Given the description of an element on the screen output the (x, y) to click on. 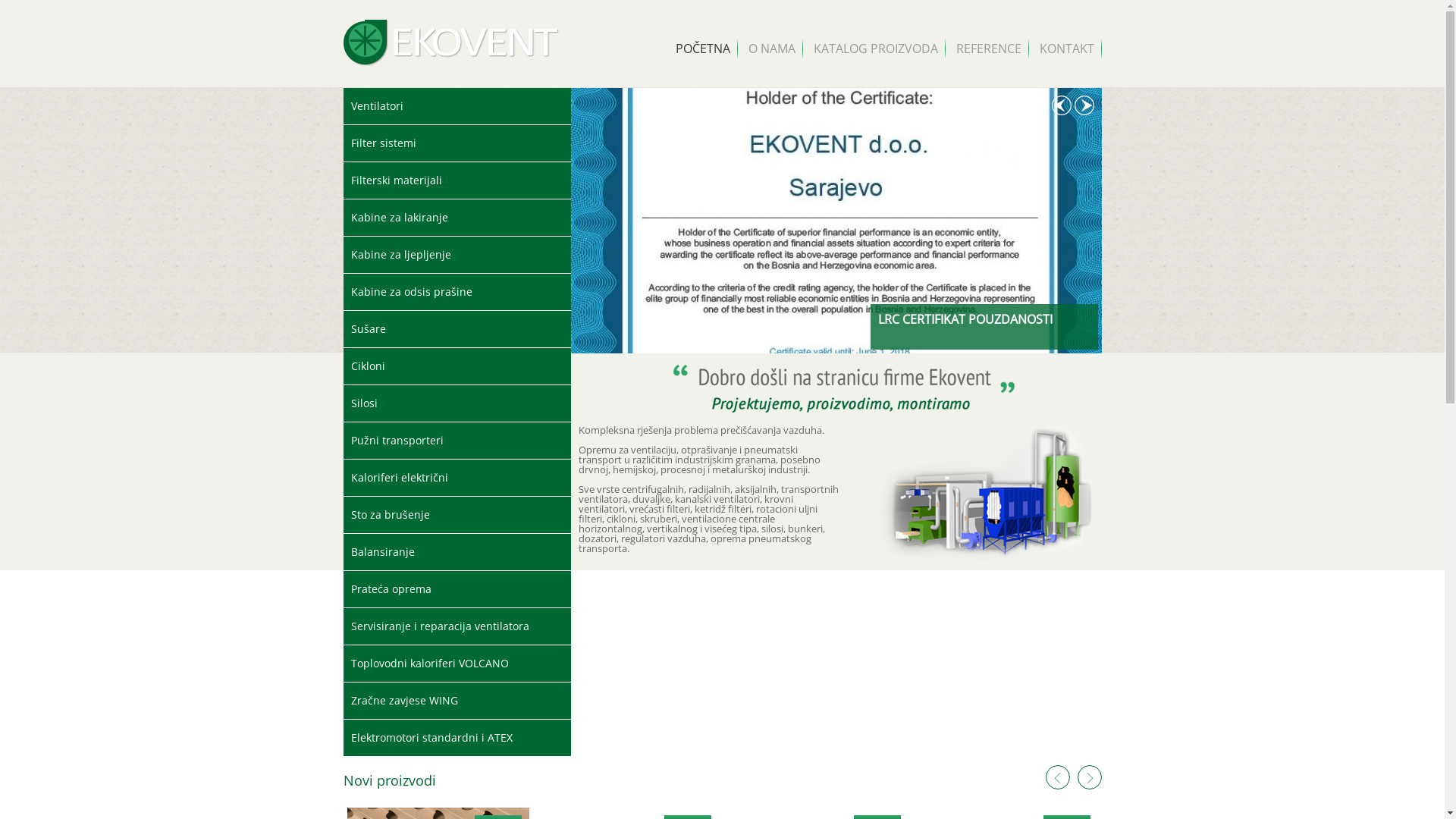
KONTAKT Element type: text (1066, 48)
Cikloni Element type: text (456, 366)
Servisiranje i reparacija ventilatora Element type: text (456, 626)
Filter sistemi Element type: text (456, 143)
Filterski materijali Element type: text (456, 180)
Silosi Element type: text (456, 403)
O NAMA Element type: text (771, 48)
Kabine za lakiranje Element type: text (456, 217)
Kabine za ljepljenje Element type: text (456, 254)
Toplovodni kaloriferi VOLCANO Element type: text (456, 663)
Balansiranje Element type: text (456, 552)
Ventilatori Element type: text (456, 106)
Elektromotori standardni i ATEX certificirani Element type: text (456, 737)
REFERENCE Element type: text (987, 48)
KATALOG PROIZVODA Element type: text (874, 48)
